Given the description of an element on the screen output the (x, y) to click on. 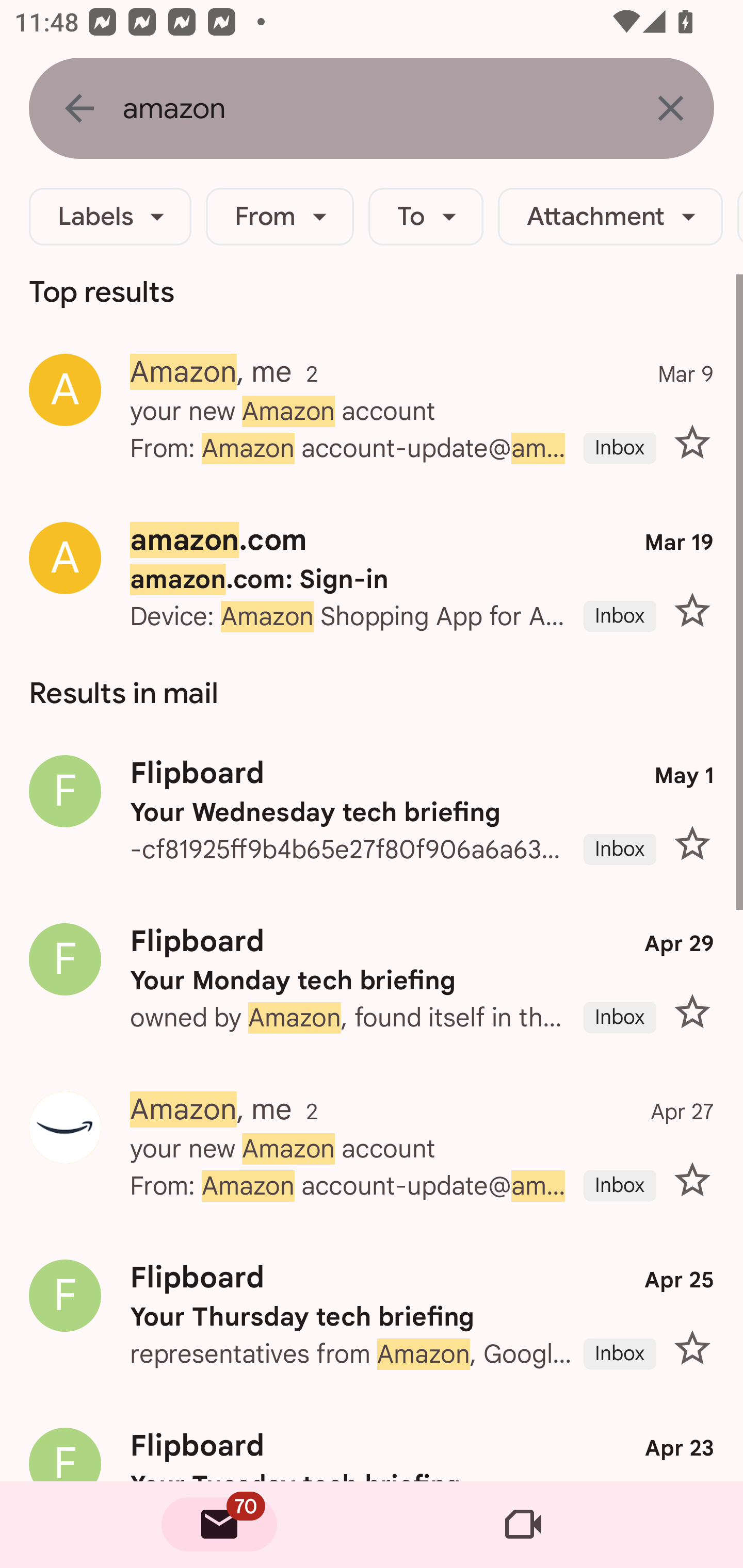
amazon Navigate up amazon Clear search text (371, 108)
Navigate up (79, 108)
Clear search text (670, 108)
Labels (109, 217)
From (279, 217)
To (425, 217)
Attachment (609, 217)
Meet (523, 1524)
